Given the description of an element on the screen output the (x, y) to click on. 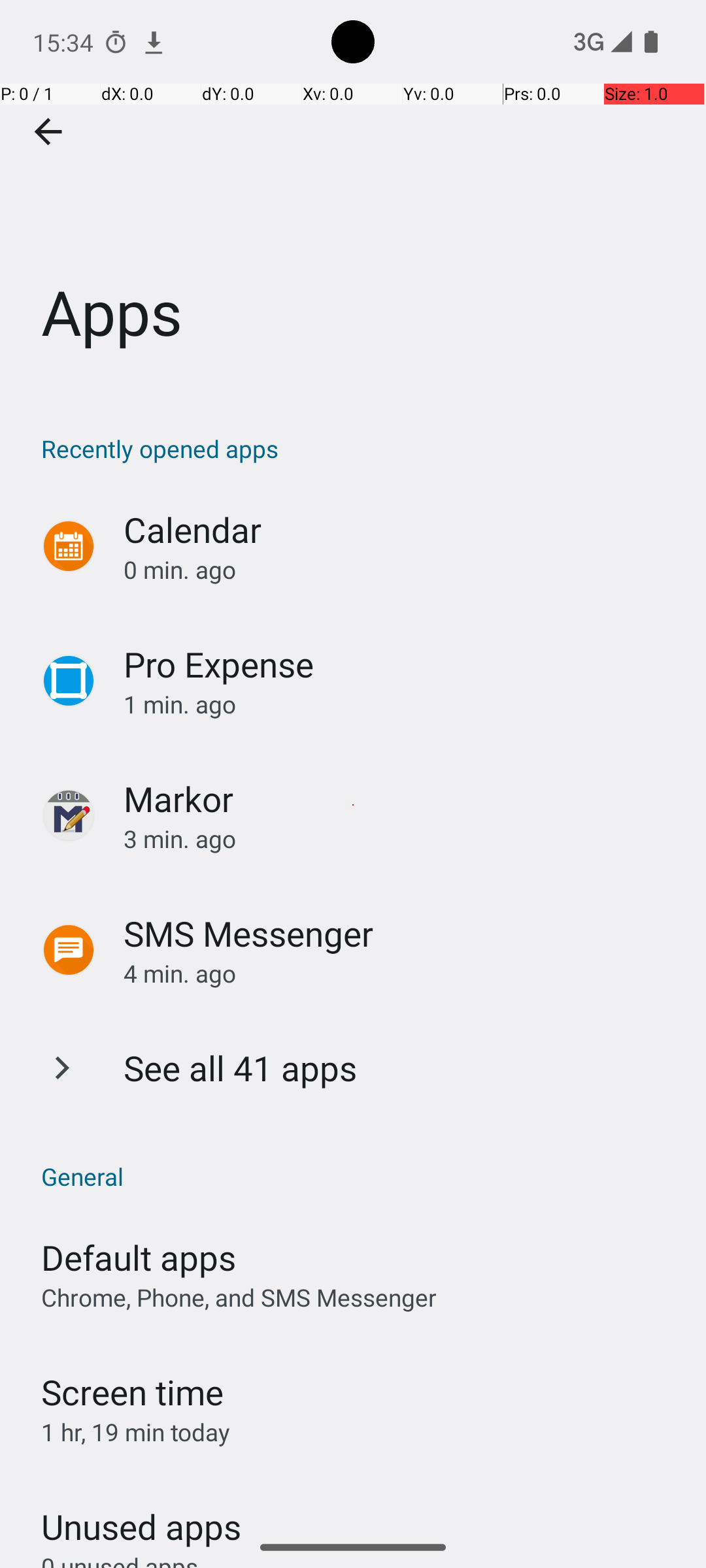
4 min. ago Element type: android.widget.TextView (400, 972)
1 hr, 19 min today Element type: android.widget.TextView (135, 1431)
